Given the description of an element on the screen output the (x, y) to click on. 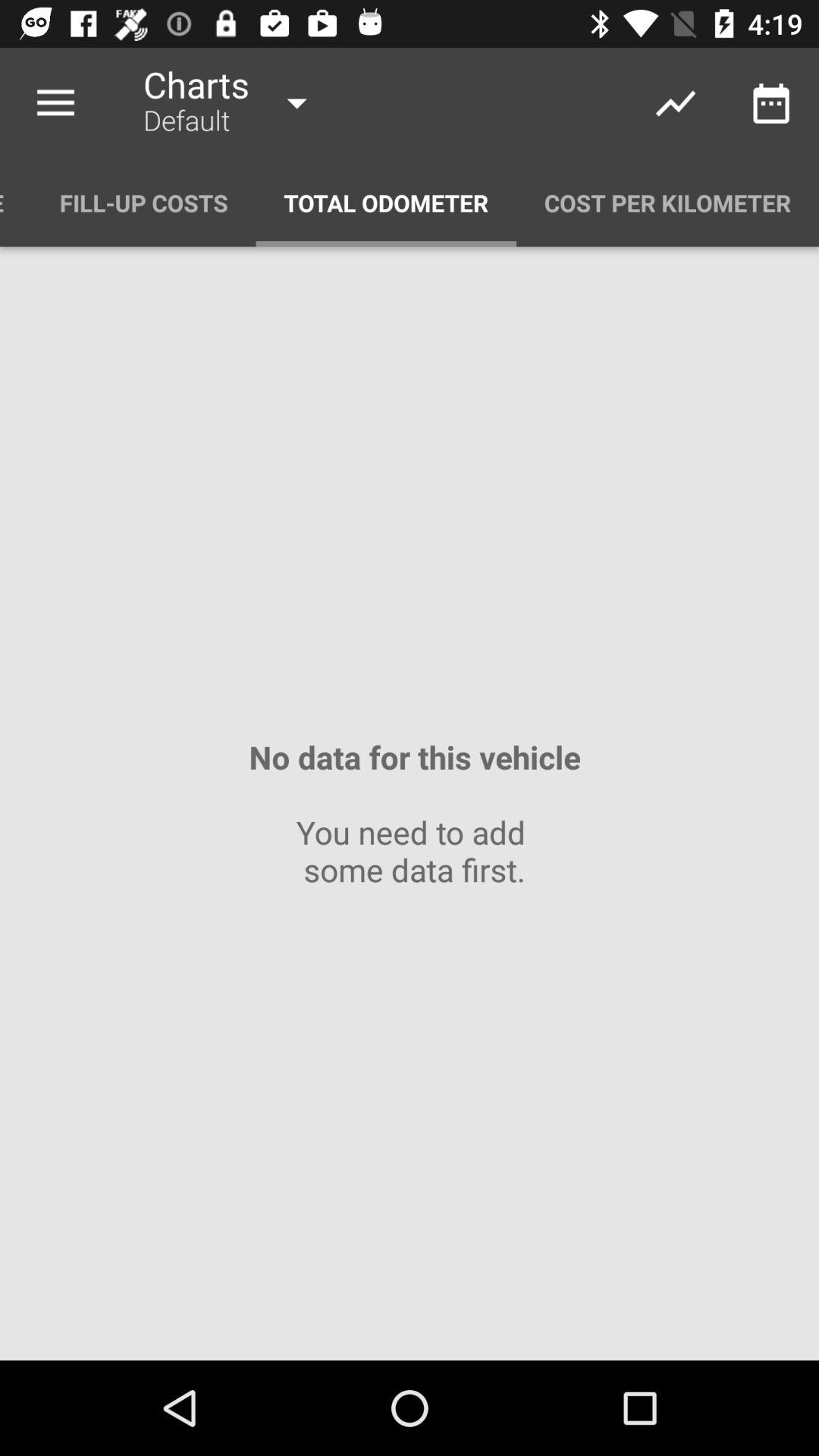
scroll until the cost per kilometer icon (667, 202)
